Given the description of an element on the screen output the (x, y) to click on. 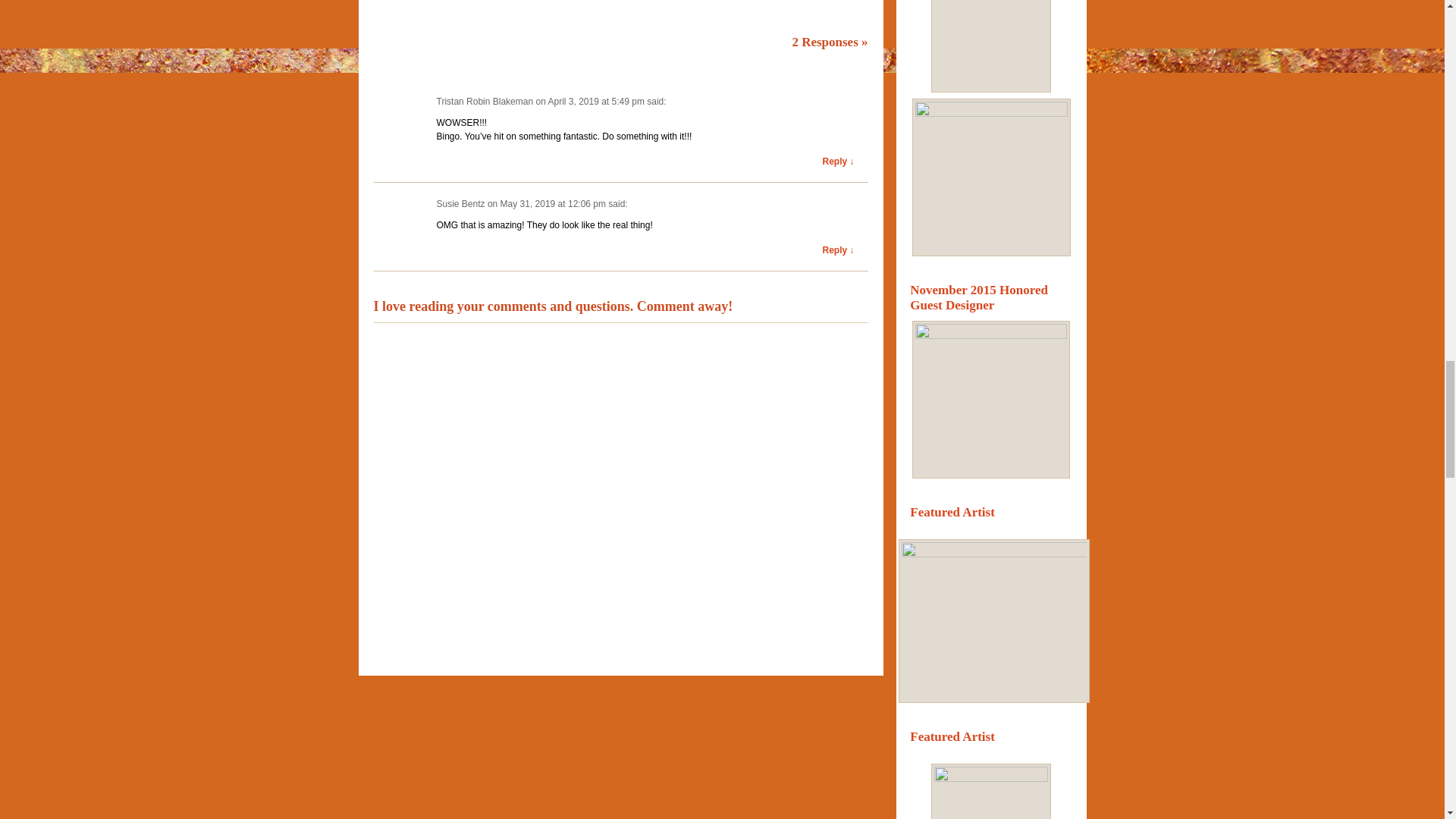
April 3, 2019 at 5:49 pm (595, 101)
Leave a comment (864, 42)
Comment Form (814, 4)
